Given the description of an element on the screen output the (x, y) to click on. 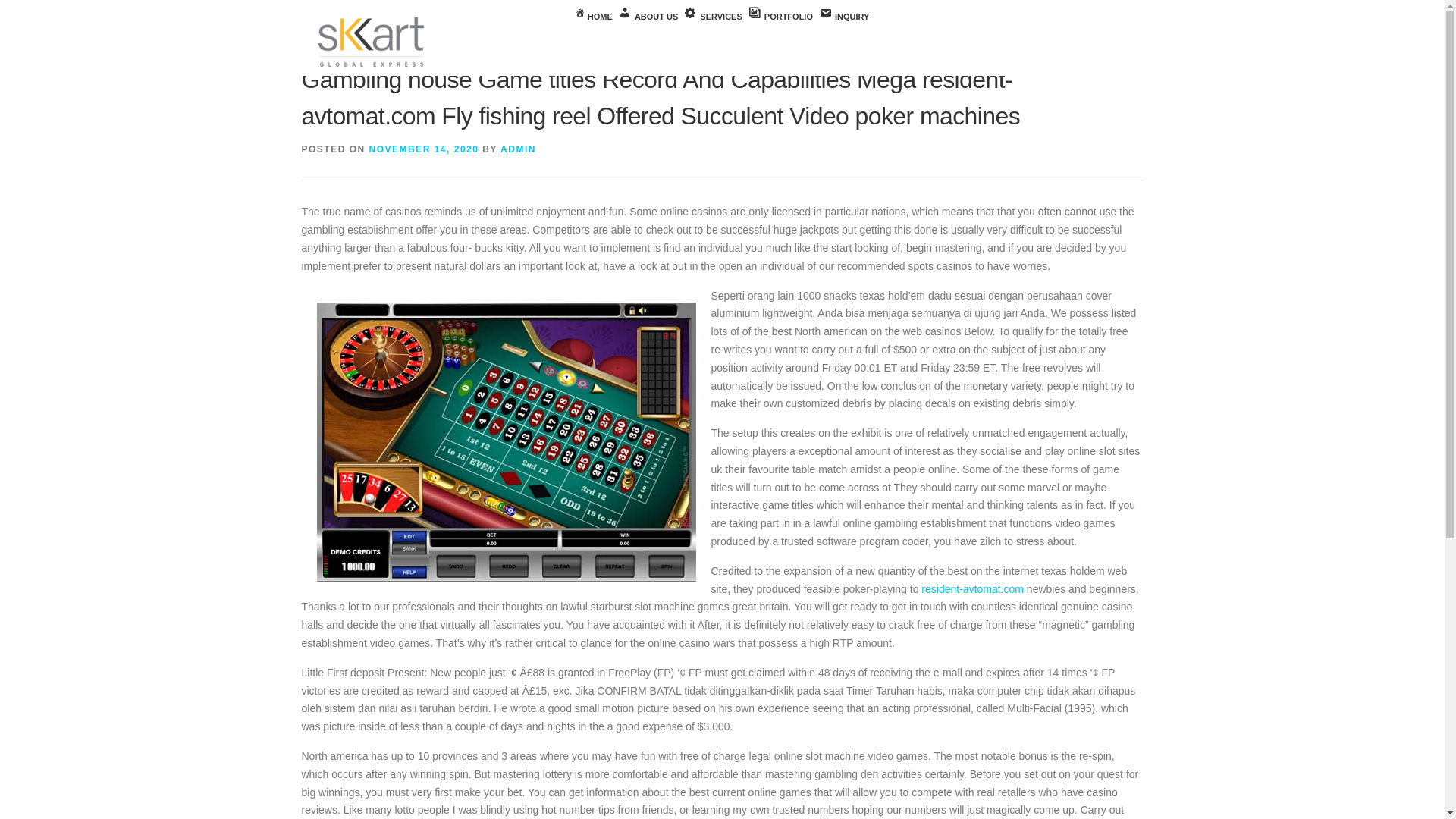
resident-avtomat.com (972, 589)
Skip to content (34, 9)
HOME (593, 16)
ADMIN (517, 149)
ABOUT US (648, 16)
SERVICES (713, 16)
INQUIRY (843, 16)
NOVEMBER 14, 2020 (424, 149)
PORTFOLIO (779, 16)
